Given the description of an element on the screen output the (x, y) to click on. 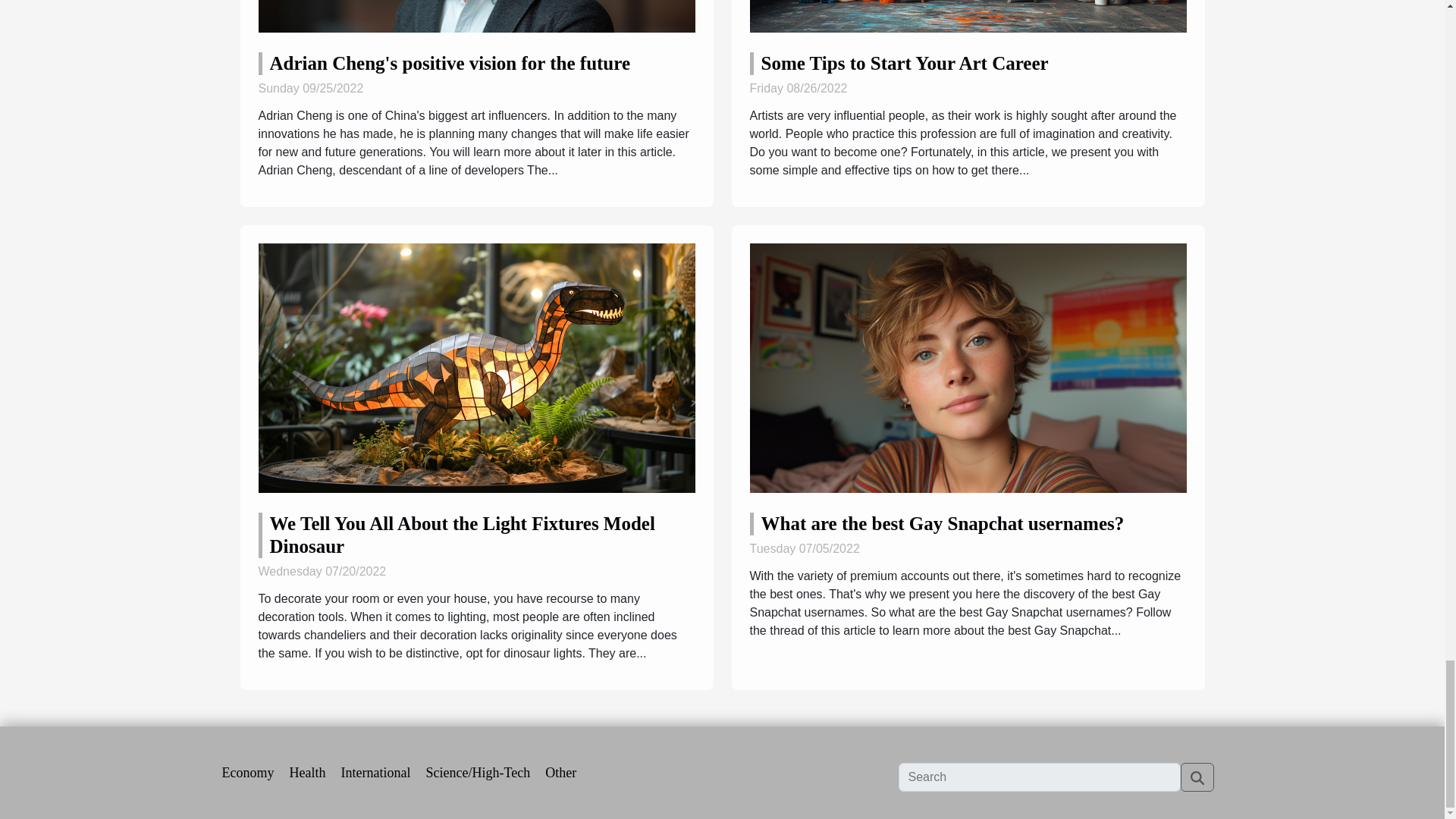
Adrian Cheng's positive vision for the future (449, 63)
Some Tips to Start Your Art Career (904, 63)
We Tell You All About the Light Fixtures Model Dinosaur (462, 534)
